Given the description of an element on the screen output the (x, y) to click on. 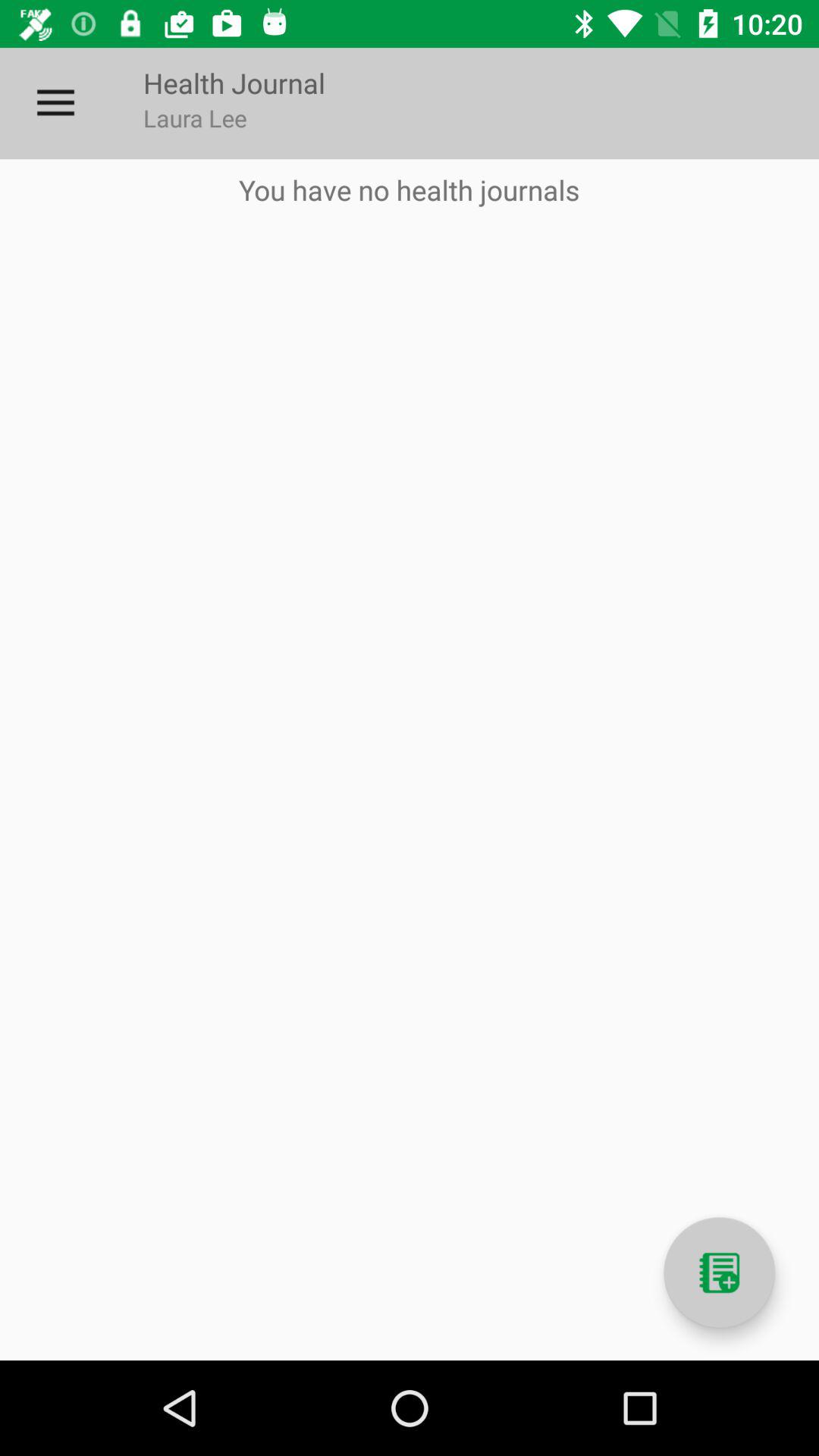
create new journal (719, 1272)
